Given the description of an element on the screen output the (x, y) to click on. 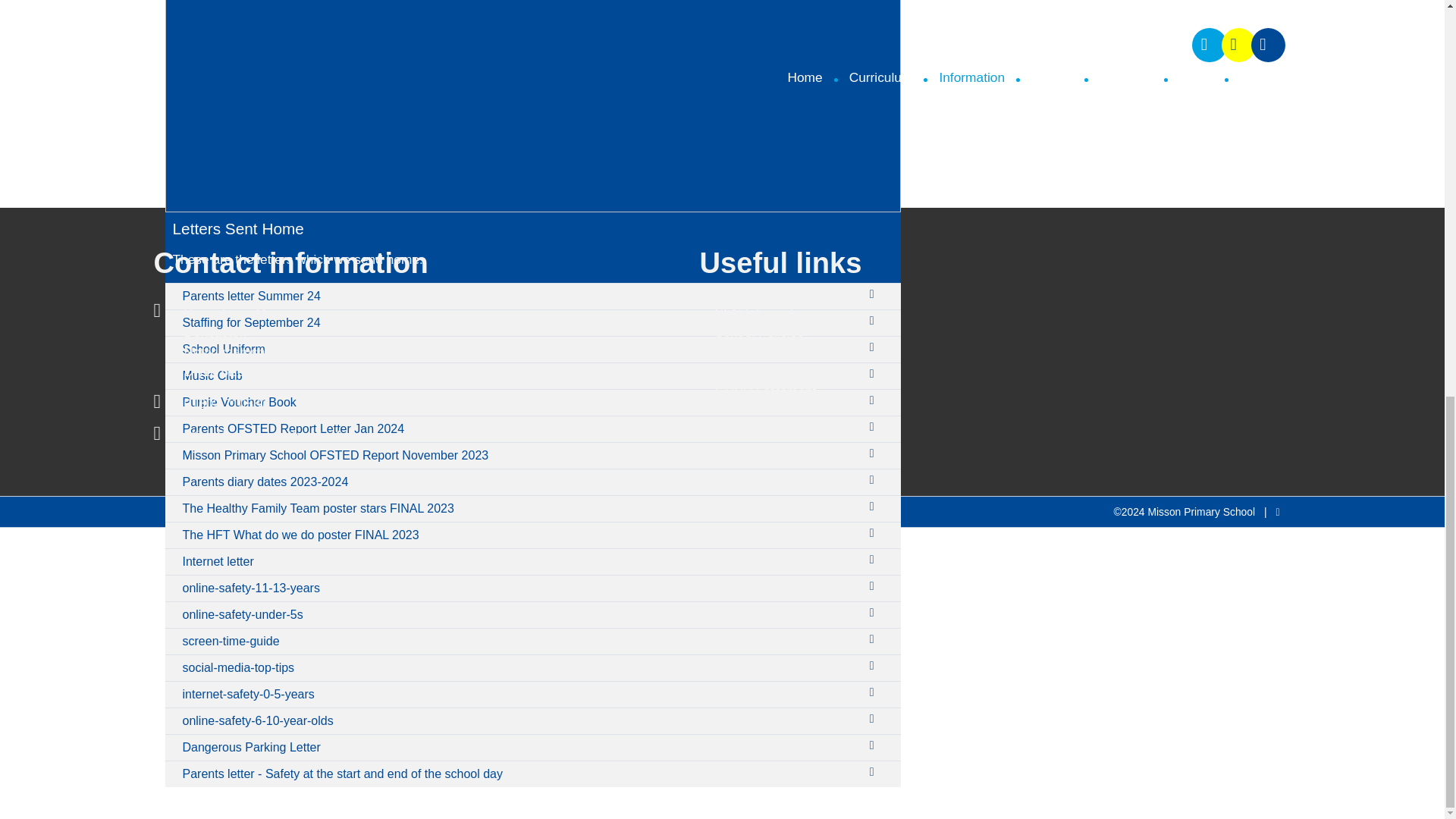
Download (875, 426)
Music Club (518, 376)
Download (875, 586)
Download (875, 638)
Purple Voucher Book (518, 402)
Download (875, 506)
Internet letter (518, 561)
Download (875, 453)
Staffing for September 24 (518, 322)
Parents diary dates 2023-2024 (518, 482)
